Given the description of an element on the screen output the (x, y) to click on. 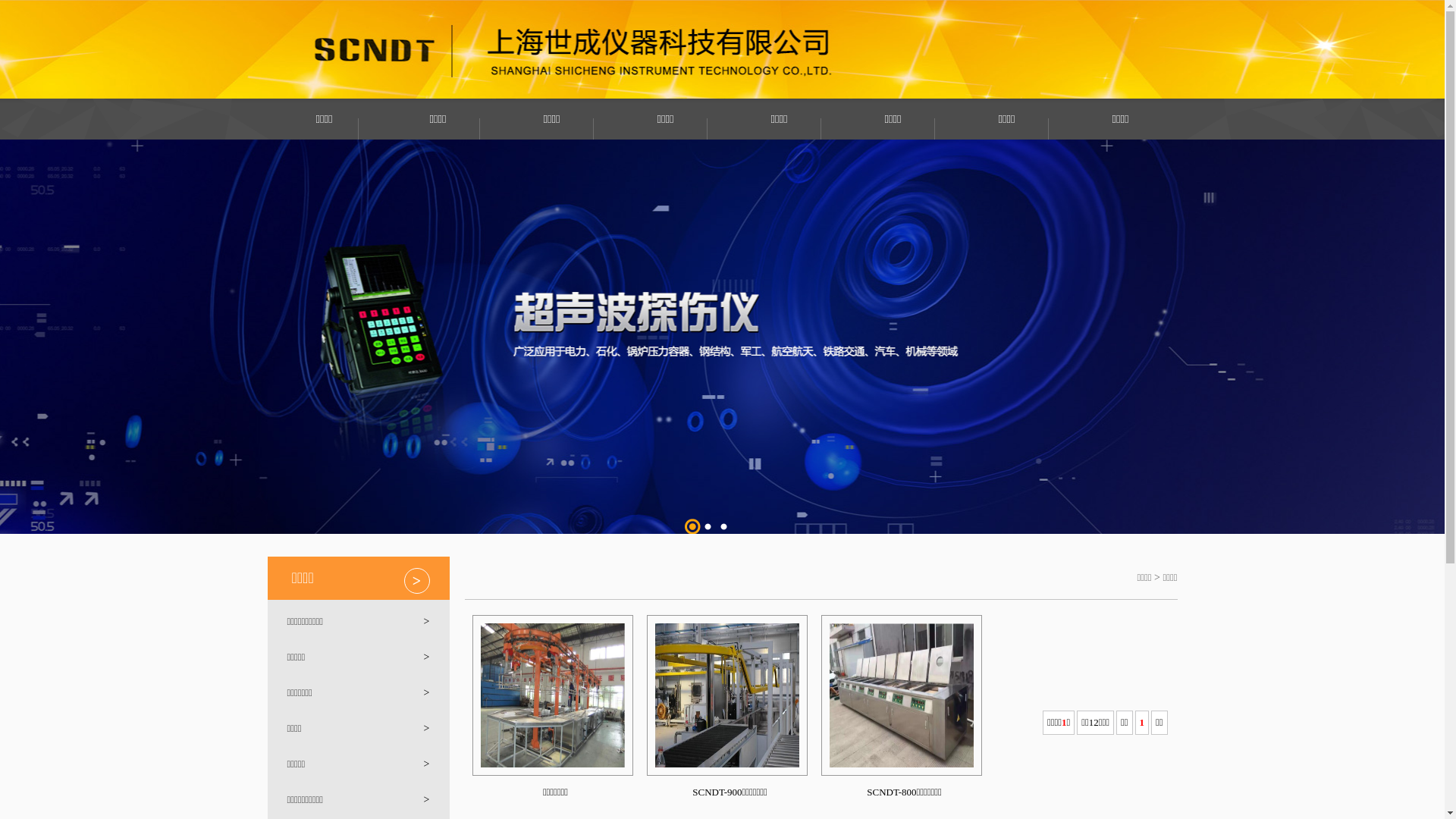
2 Element type: text (708, 526)
1 Element type: text (691, 526)
3 Element type: text (723, 526)
